Given the description of an element on the screen output the (x, y) to click on. 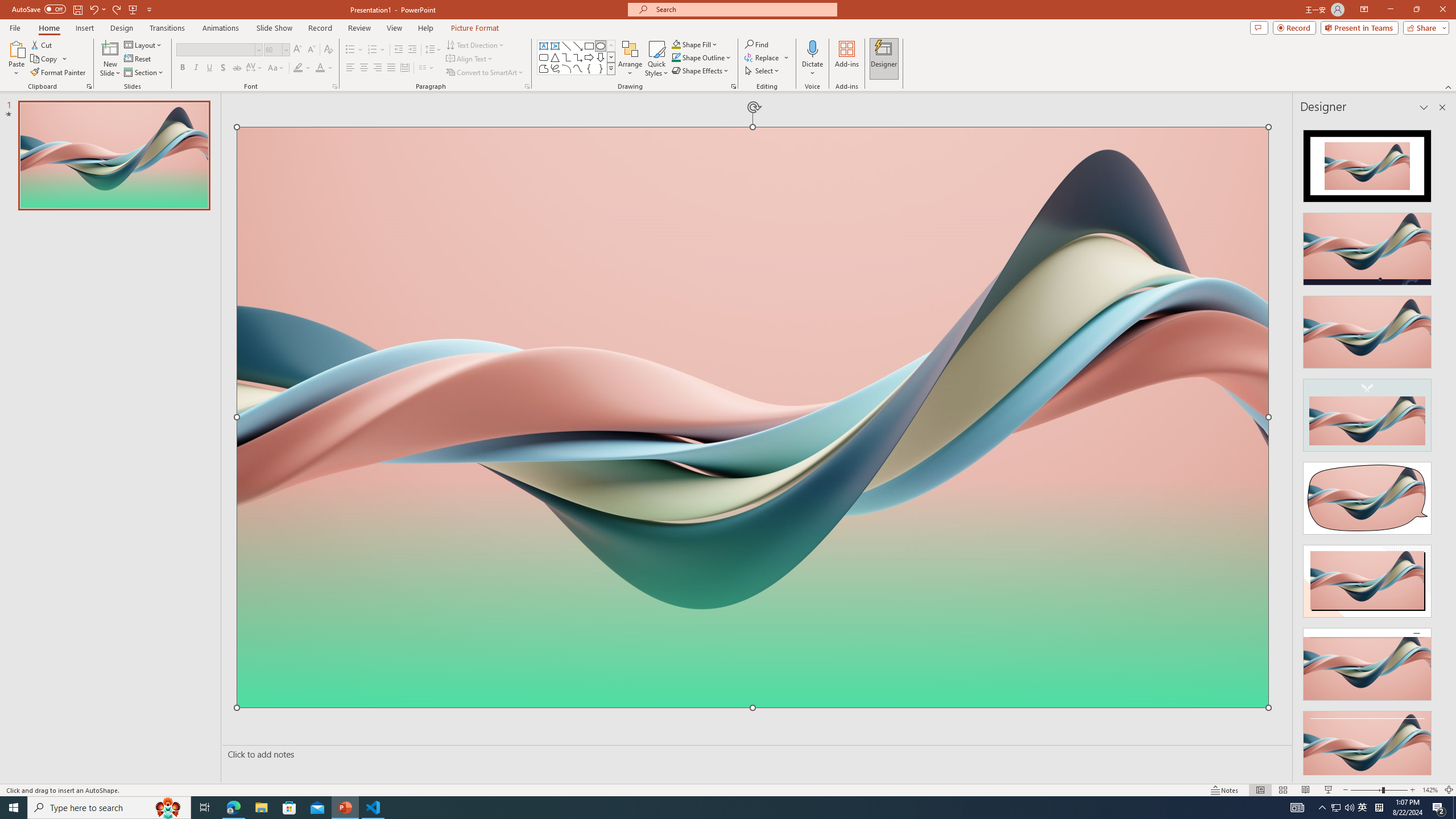
Shape Effects (700, 69)
